Given the description of an element on the screen output the (x, y) to click on. 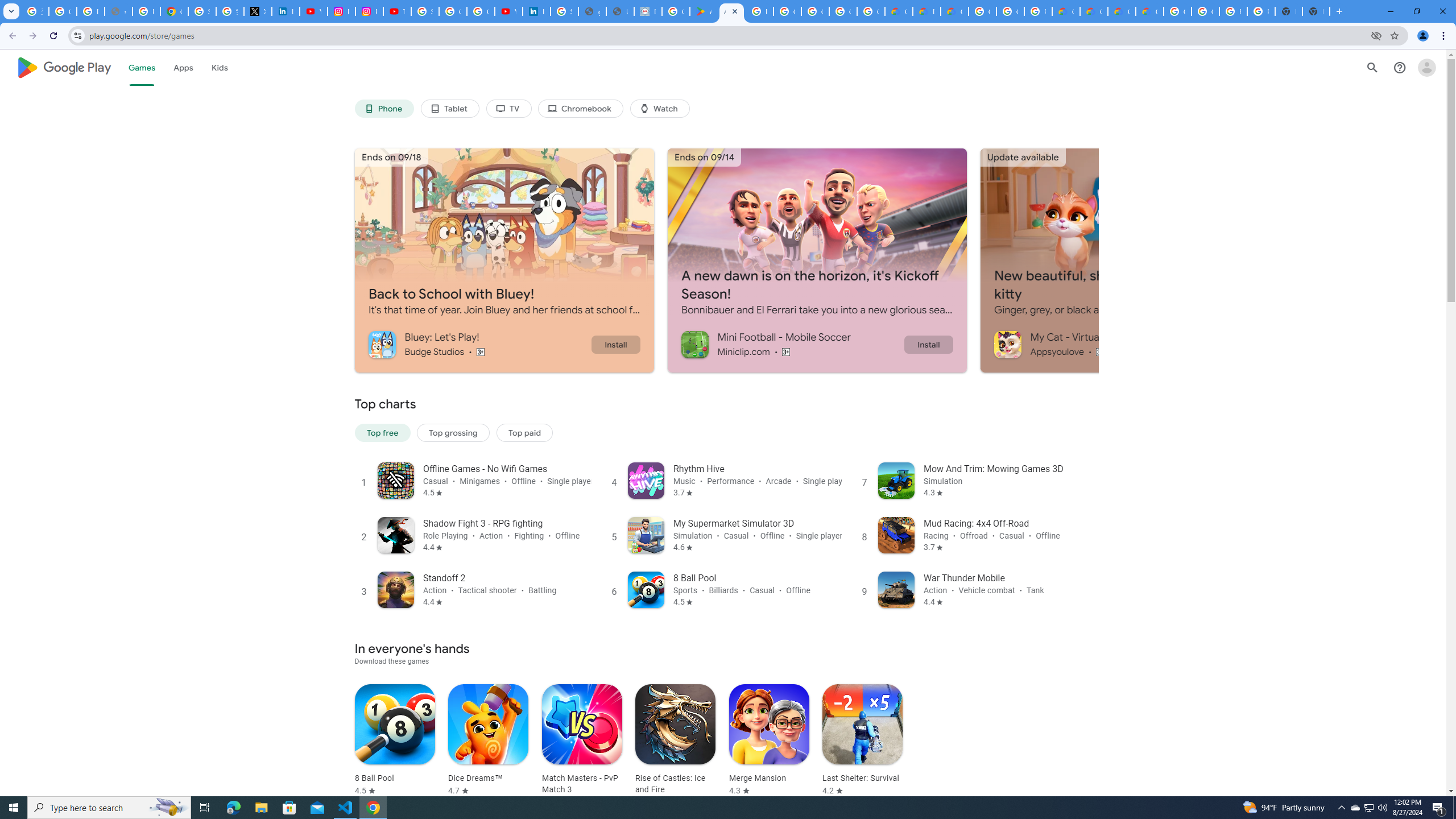
X (257, 11)
support.google.com - Network error (118, 11)
Google Cloud Pricing Calculator (1121, 11)
